Given the description of an element on the screen output the (x, y) to click on. 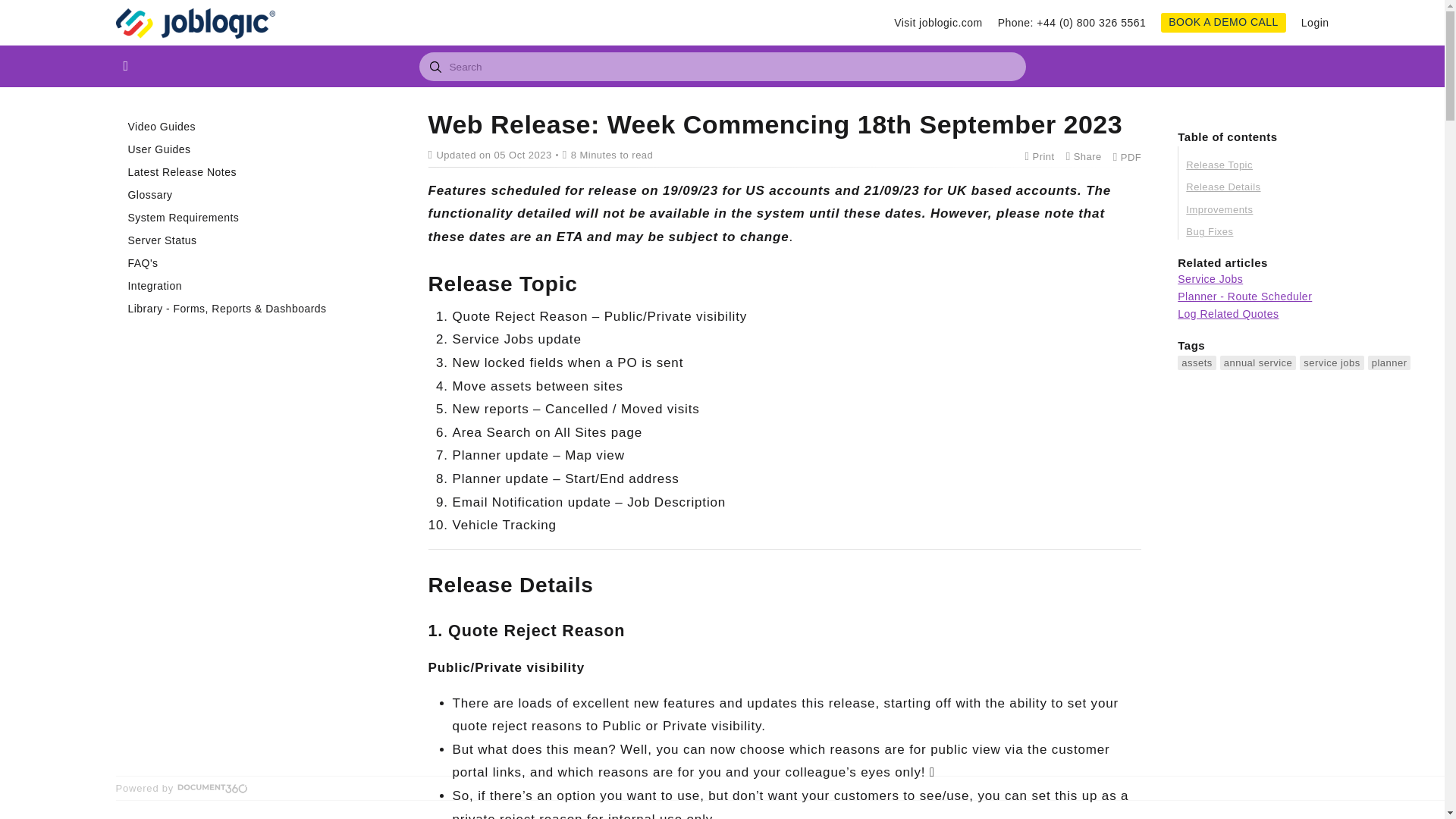
BOOK A DEMO CALL (1222, 22)
Release Details (1296, 186)
Service Jobs (1210, 278)
annual service (1258, 361)
Login (1315, 23)
Visit joblogic.com (937, 23)
Planner - Route Scheduler (1244, 296)
Log Related Quotes (1227, 313)
assets (1196, 361)
Improvements (1296, 209)
